Given the description of an element on the screen output the (x, y) to click on. 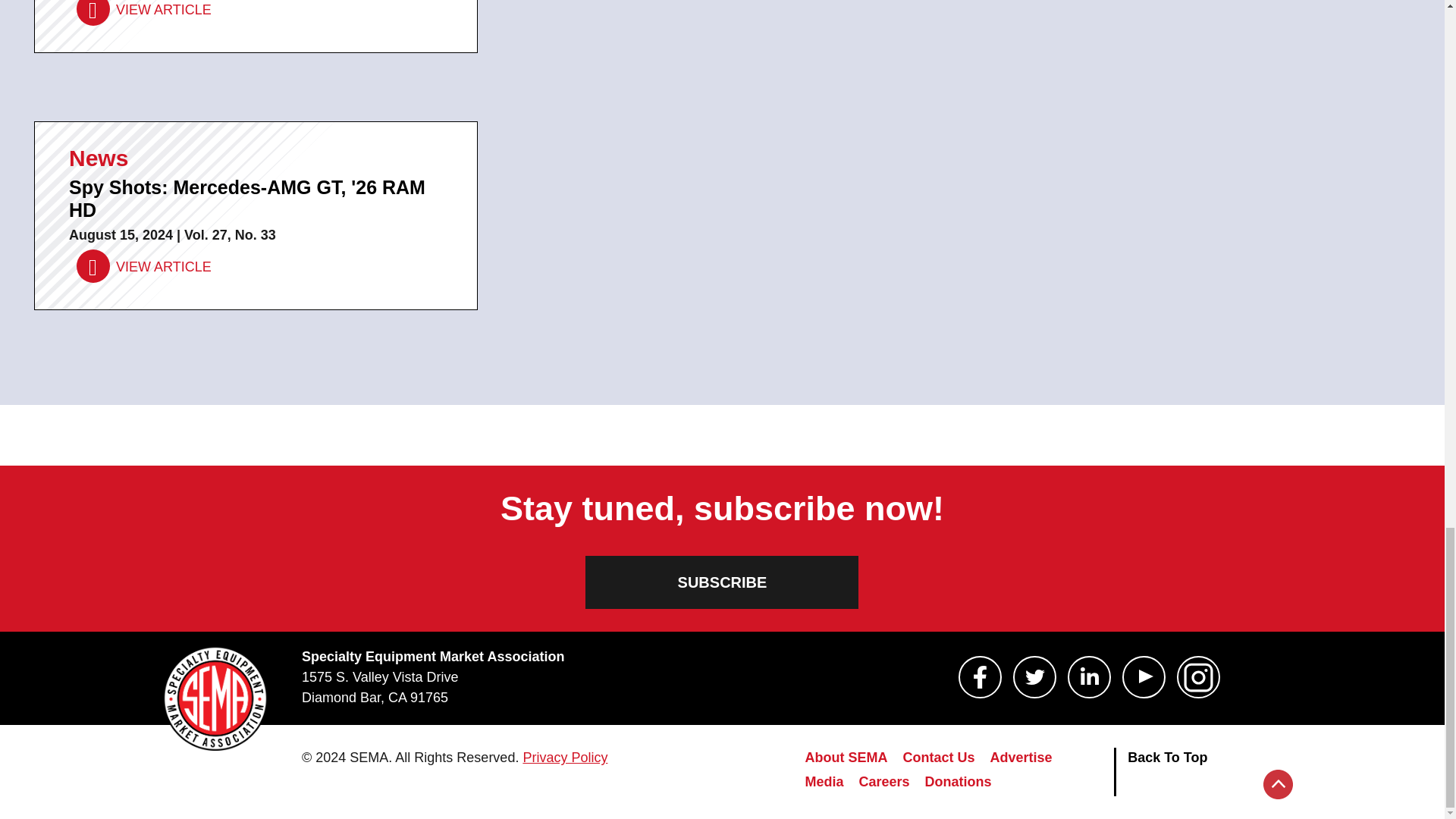
SEMA LinkedIn Link (1088, 677)
Spy Shots: Mercedes-AMG GT, '26 RAM HD (143, 266)
VIEW ARTICLE (143, 12)
Privacy Policy (564, 757)
SEMA Facebook Link (979, 677)
SEMA Twitter Link (1035, 677)
SUBSCRIBE (722, 582)
SEMA YouTube Link (1144, 677)
VIEW ARTICLE (143, 266)
SEMA Instagram Link (1198, 677)
